Given the description of an element on the screen output the (x, y) to click on. 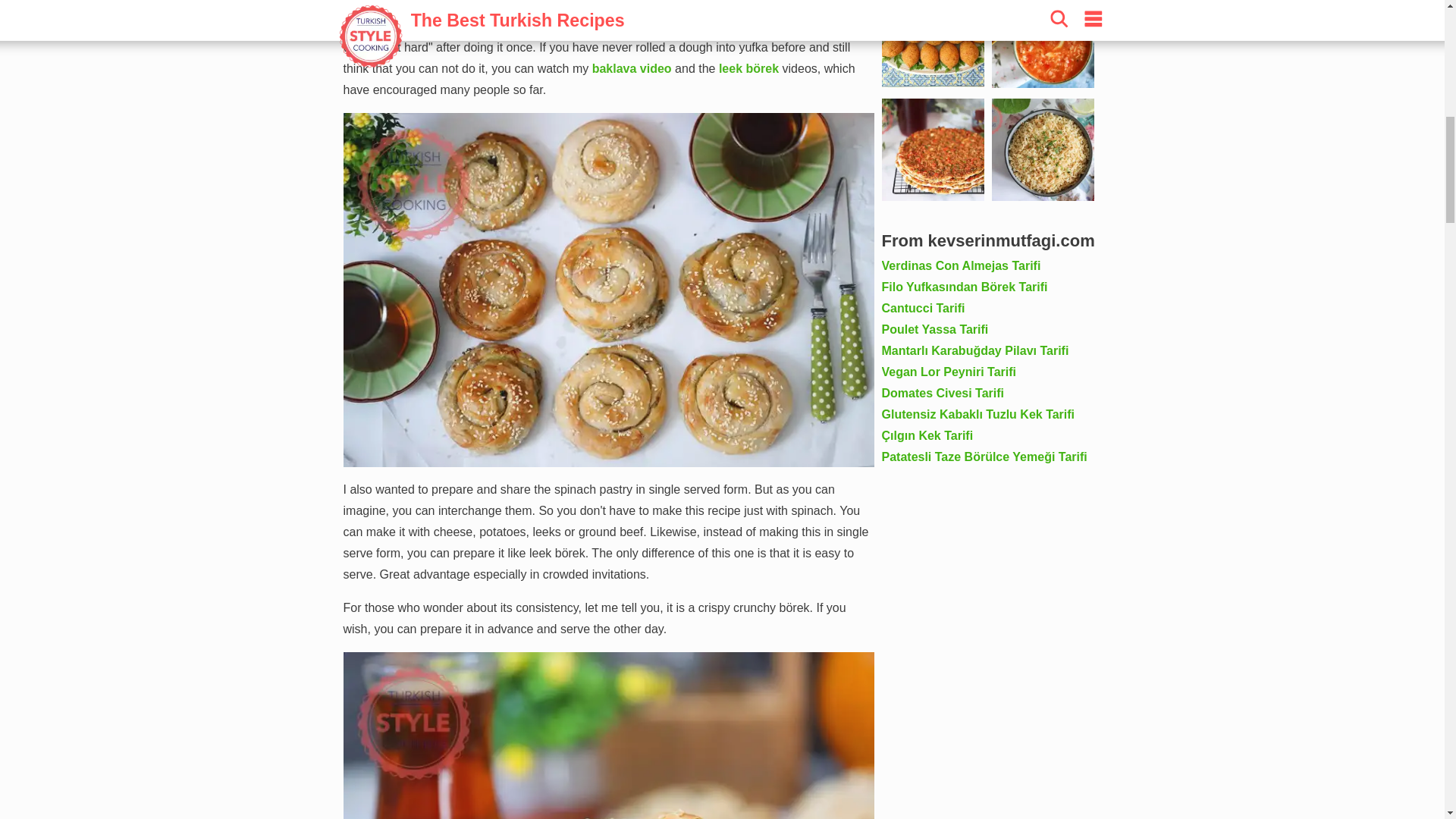
baklava video (631, 68)
Lahmacun Recipe (932, 149)
Vermicelli Bulghur Pilaf (1042, 149)
Chicken and Rice Soup Recipe (1042, 43)
